Given the description of an element on the screen output the (x, y) to click on. 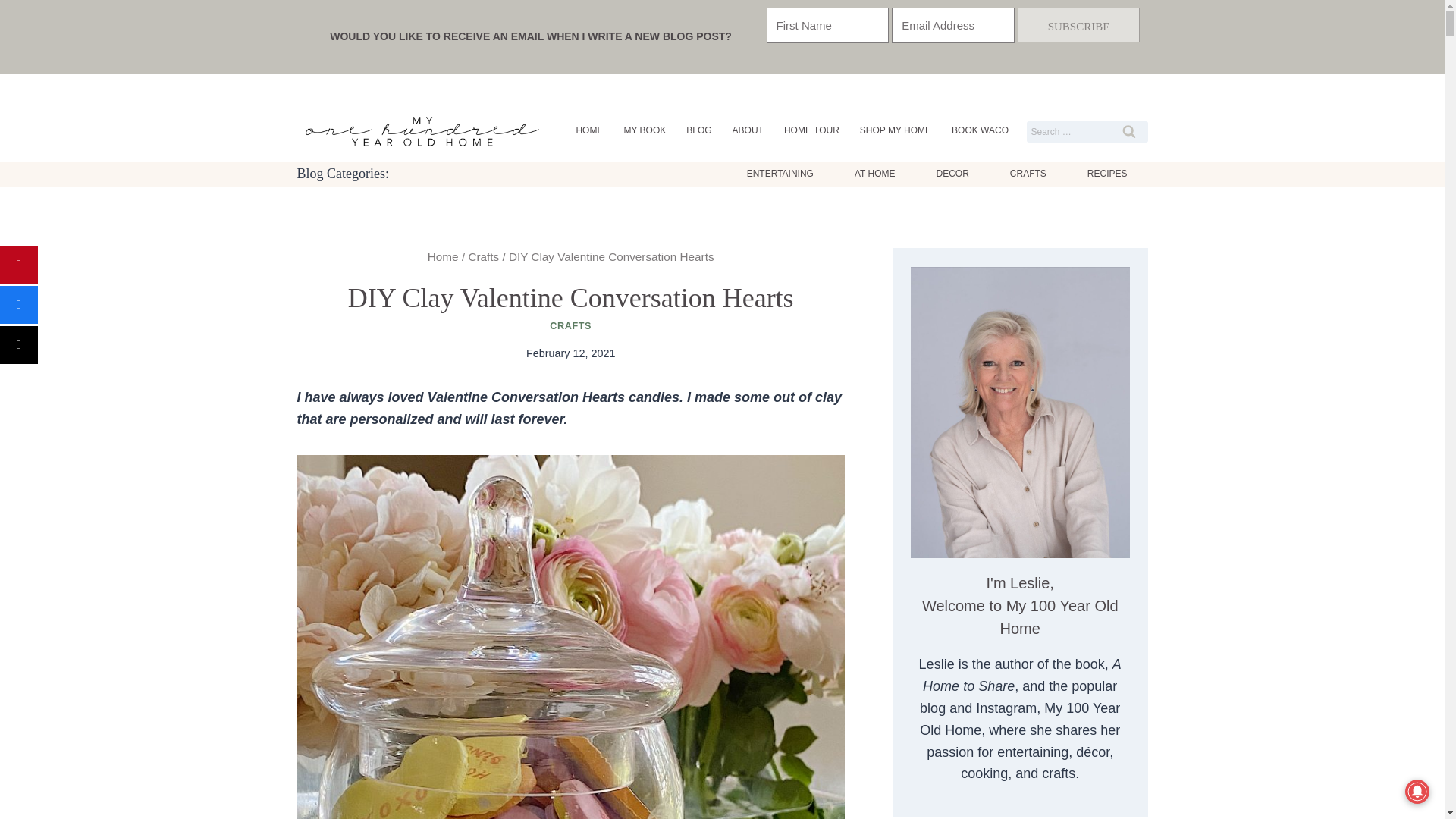
DECOR (951, 174)
AT HOME (874, 174)
CRAFTS (1028, 174)
Search (1128, 131)
HOME TOUR (810, 130)
SUBSCRIBE (1078, 24)
SHOP MY HOME (894, 130)
BLOG (699, 130)
Home (443, 256)
HOME (589, 130)
